Given the description of an element on the screen output the (x, y) to click on. 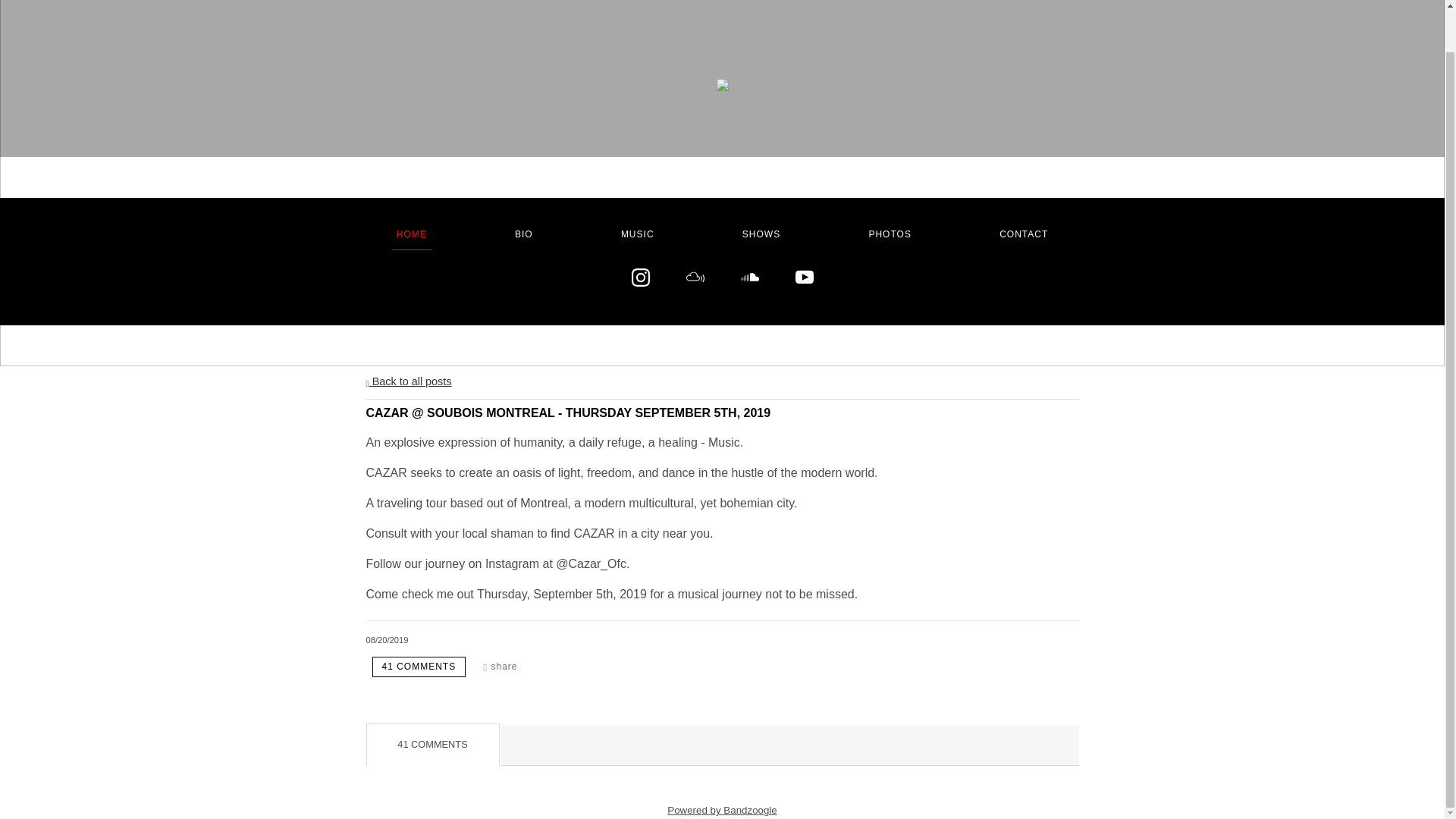
August 20, 2019 16:47 (386, 639)
Powered by Bandzoogle (721, 809)
41 comments (418, 666)
share (499, 666)
MUSIC (637, 234)
CONTACT (1023, 234)
HOME (410, 234)
PHOTOS (889, 234)
Powered by Bandzoogle (721, 809)
Back to all posts (408, 381)
41 COMMENTS (418, 666)
SHOWS (761, 234)
